Given the description of an element on the screen output the (x, y) to click on. 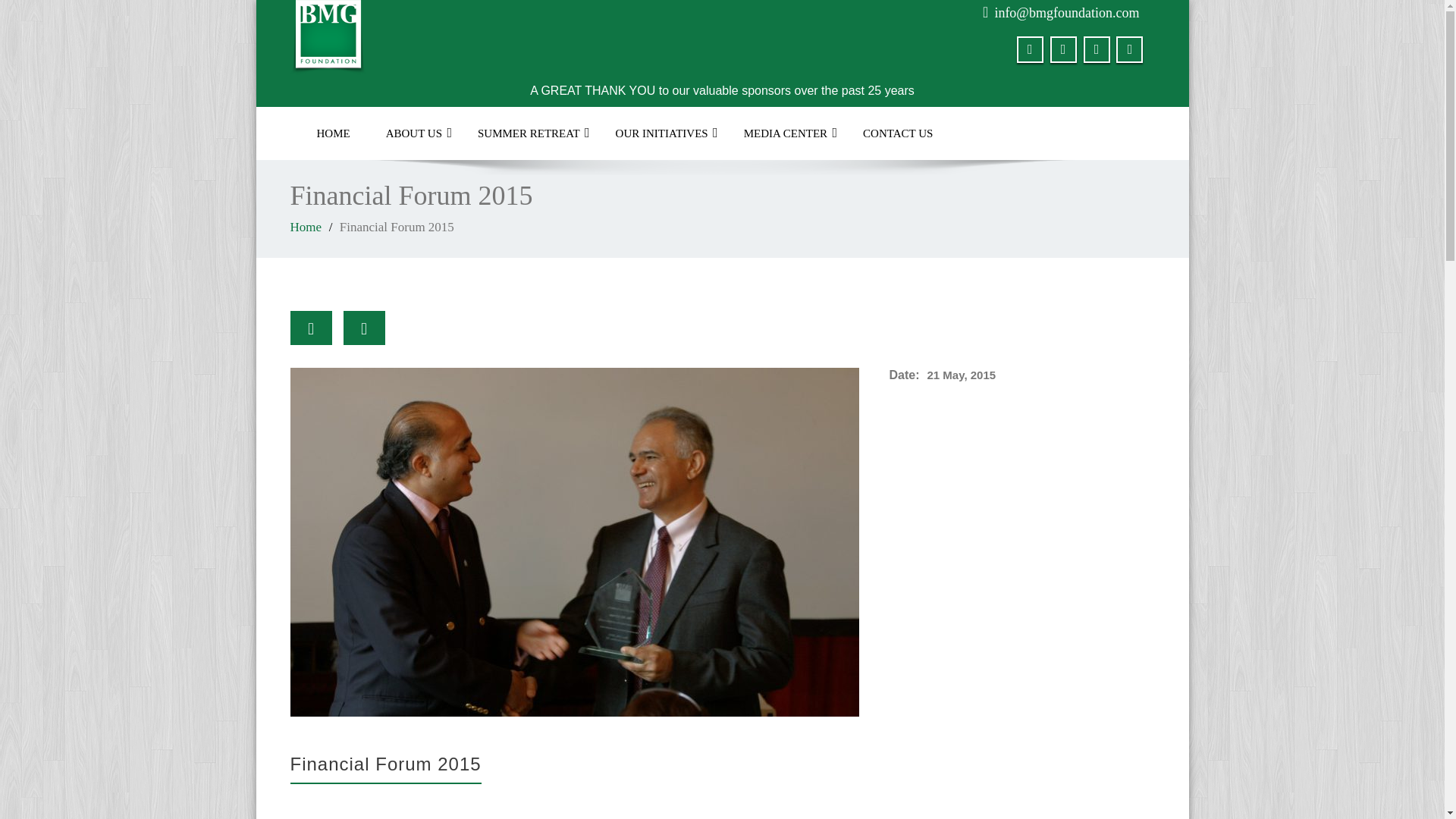
Home (305, 227)
HOME (333, 132)
BMG Foundation (497, 38)
MEDIA CENTER (786, 132)
SUMMER RETREAT (529, 132)
ABOUT US (414, 132)
OUR INITIATIVES (661, 132)
